Given the description of an element on the screen output the (x, y) to click on. 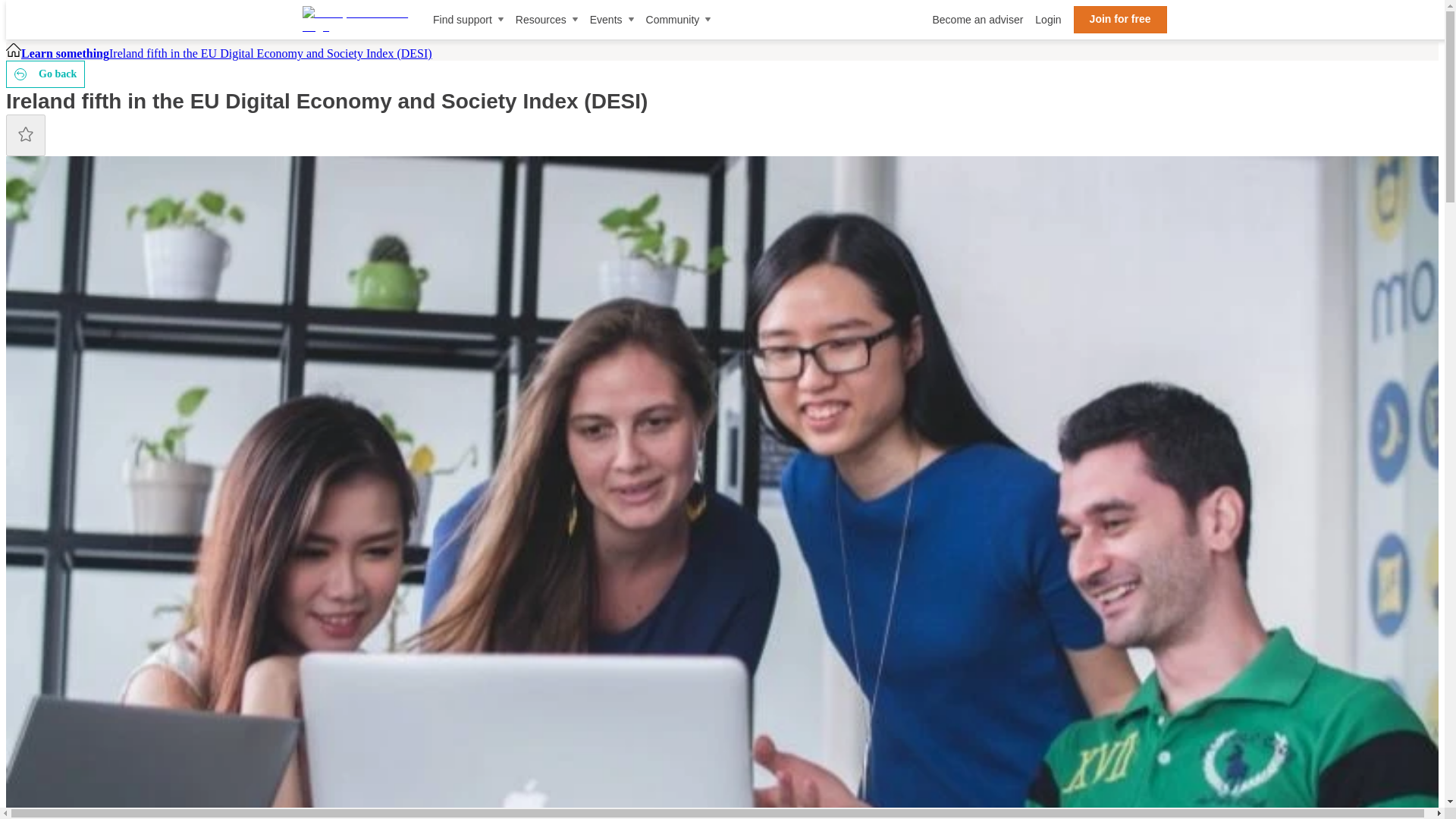
Join for free (1120, 19)
Learn something (65, 52)
Learn something (65, 52)
Find support (467, 19)
Go back (44, 73)
Become an adviser (977, 19)
Community (678, 19)
Login (1048, 19)
Resources (546, 19)
Events (611, 19)
Home (13, 52)
